Given the description of an element on the screen output the (x, y) to click on. 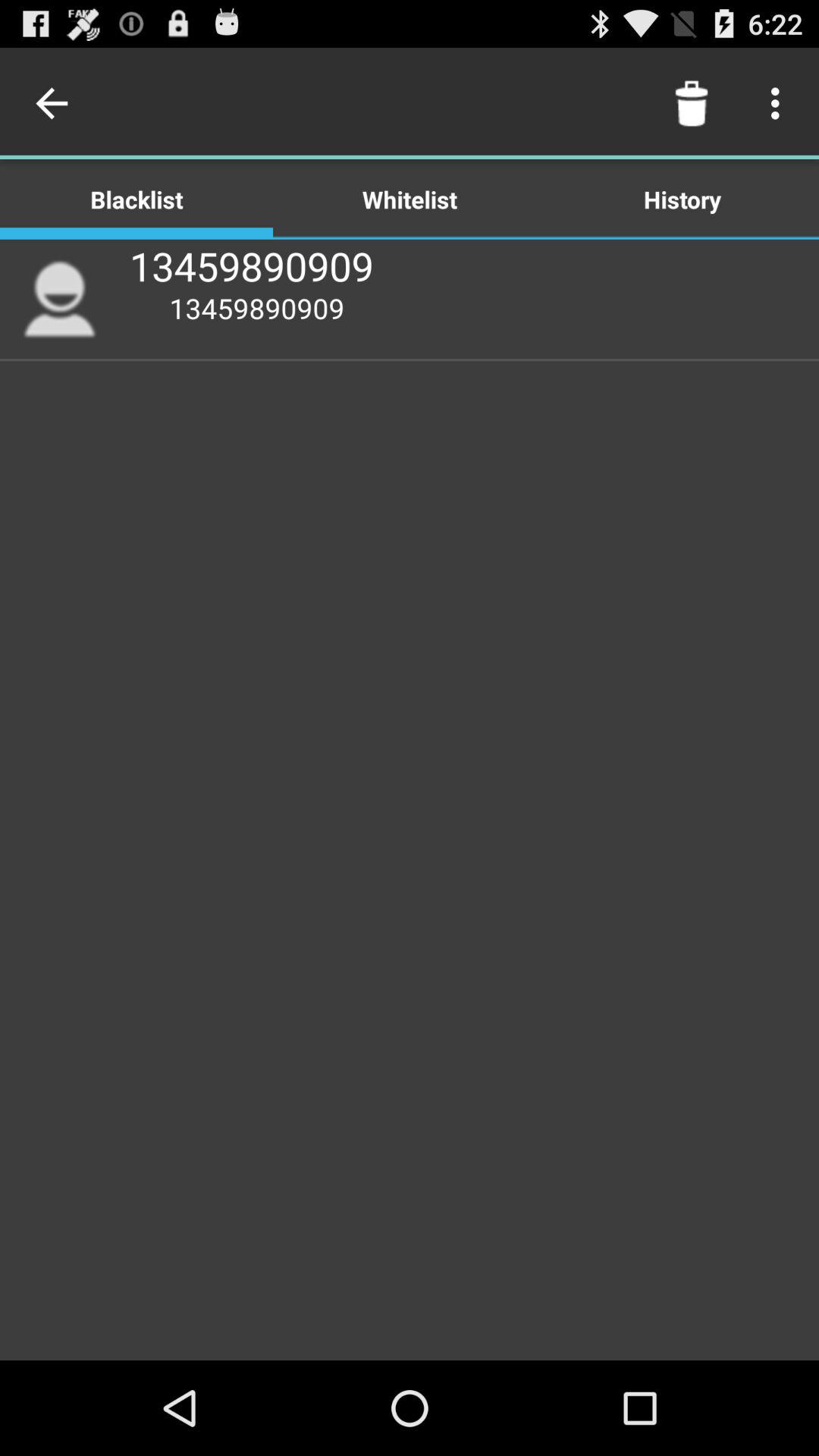
select icon above blacklist item (55, 103)
